Given the description of an element on the screen output the (x, y) to click on. 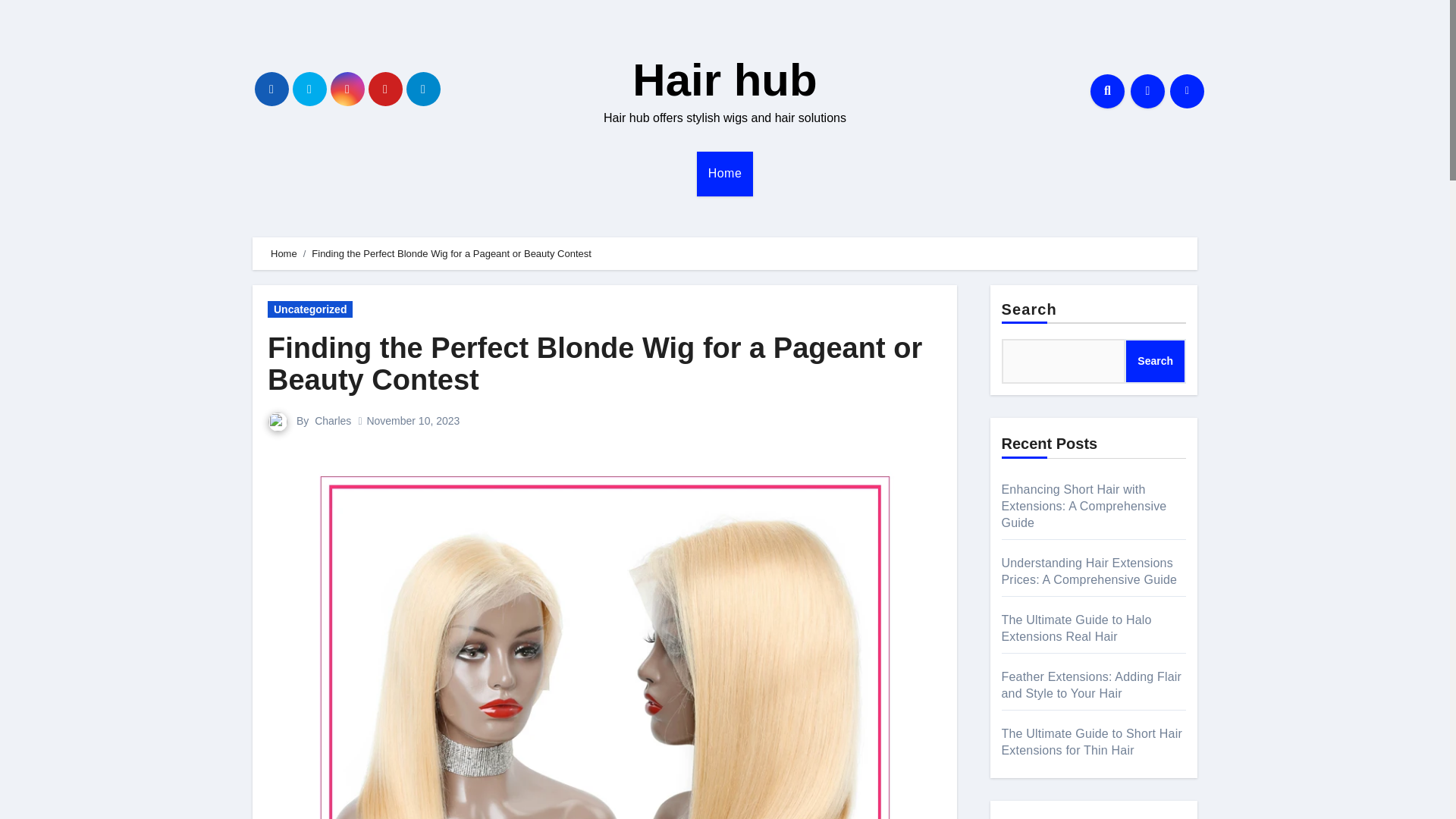
Home (725, 173)
Hair hub (723, 79)
Home (725, 173)
Uncategorized (309, 309)
November 10, 2023 (413, 420)
Charles (332, 420)
Home (283, 253)
